Given the description of an element on the screen output the (x, y) to click on. 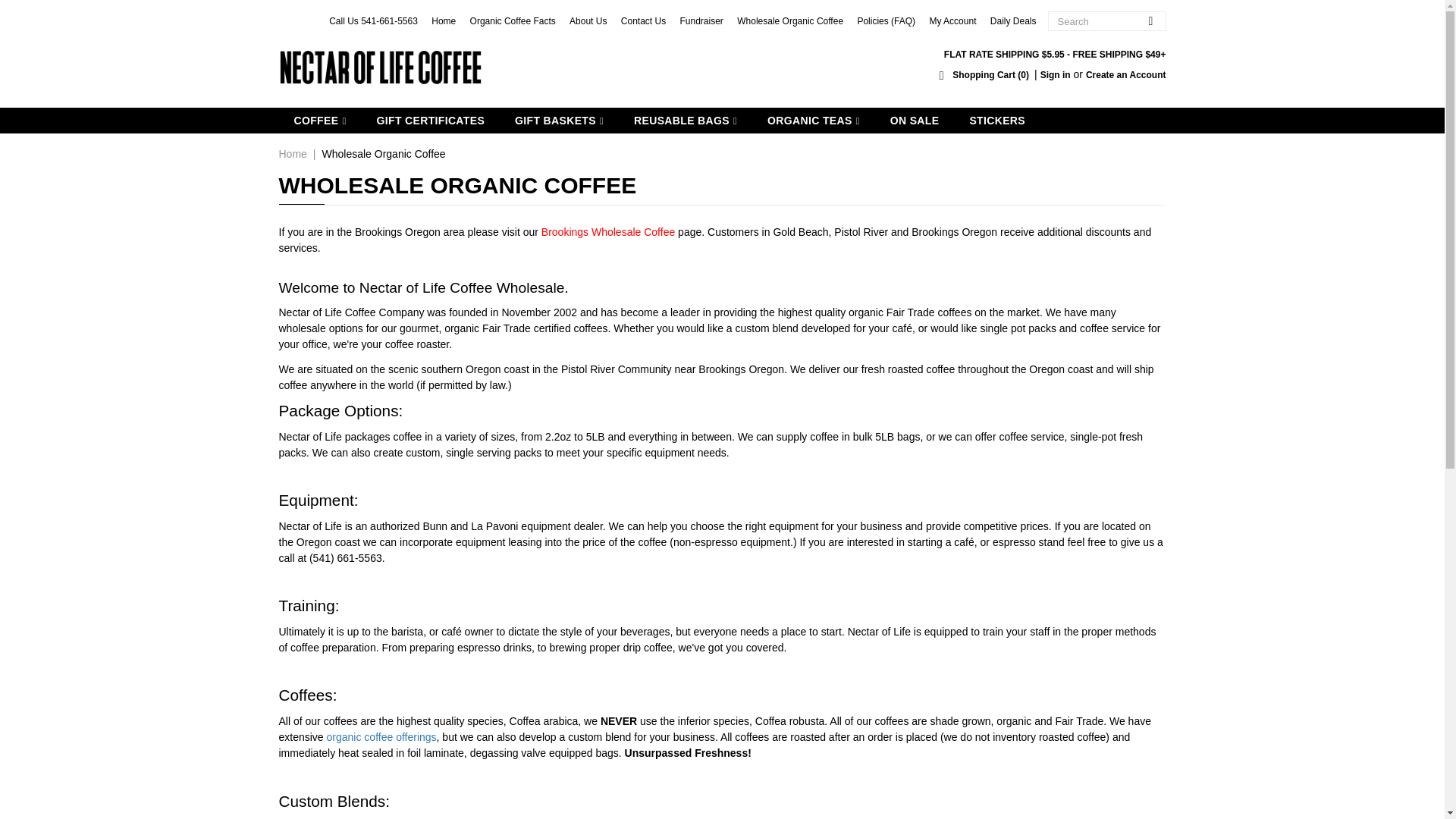
GIFT CERTIFICATES (430, 120)
My Account (951, 20)
Create an Account (1126, 74)
541-661-5563 (389, 20)
Home (442, 20)
About Us (588, 20)
Organic Coffee Facts (513, 20)
Fundraiser (700, 20)
Contact Us (643, 20)
Daily Deals (1013, 20)
COFFEE (320, 120)
REUSABLE BAGS (685, 120)
Sign in (1055, 74)
GIFT BASKETS (558, 120)
Wholesale Organic Coffee (789, 20)
